Given the description of an element on the screen output the (x, y) to click on. 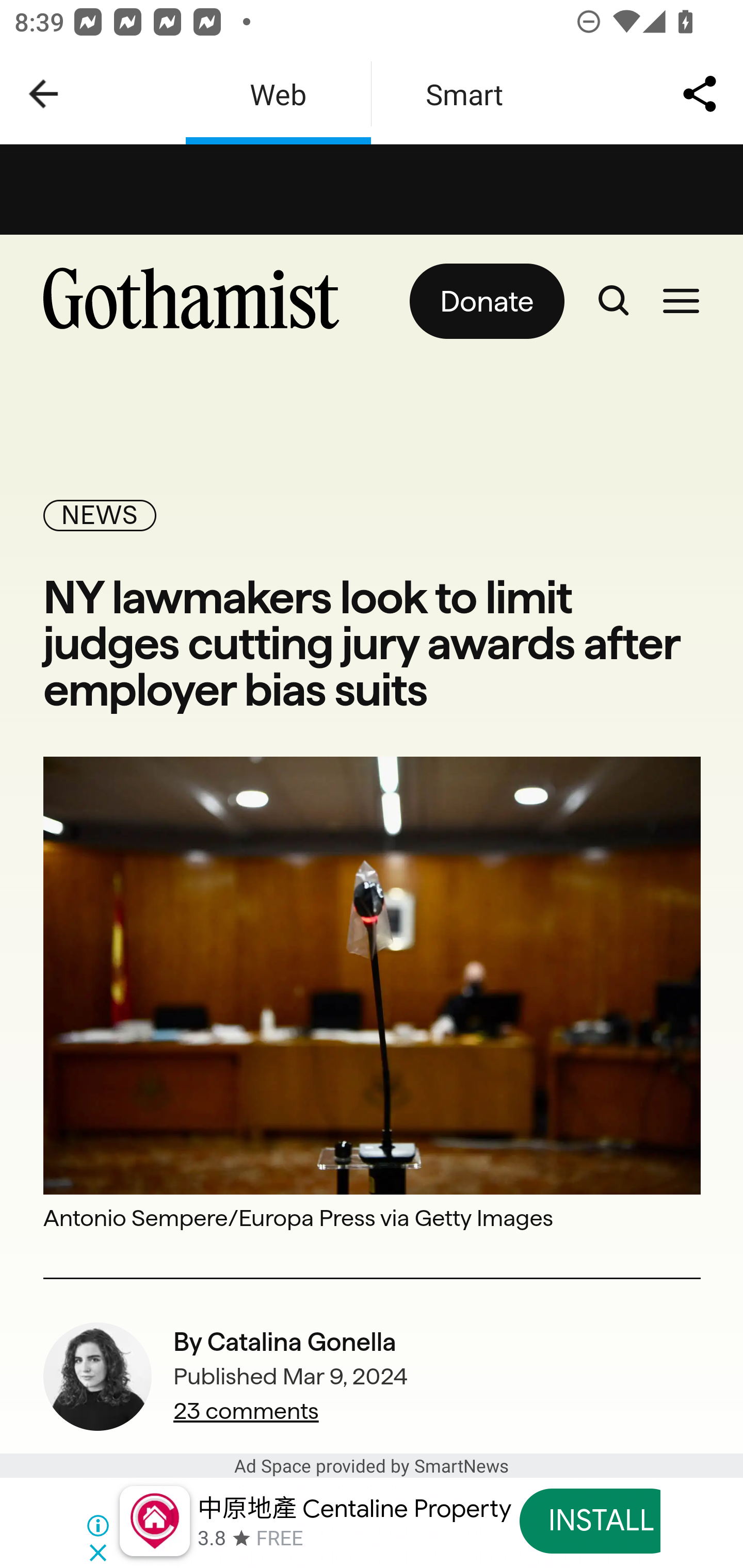
Web (277, 93)
Smart (464, 93)
Donate (485, 300)
Gothamist (199, 300)
Go to search page (612, 300)
Open the navigation menu (681, 300)
NEWS (99, 514)
A microphone in a courtroom. (372, 974)
Antonio Sempere/Europa Press via Getty Images (372, 1217)
INSTALL (600, 1520)
中原地產 Centaline Property (354, 1508)
